Given the description of an element on the screen output the (x, y) to click on. 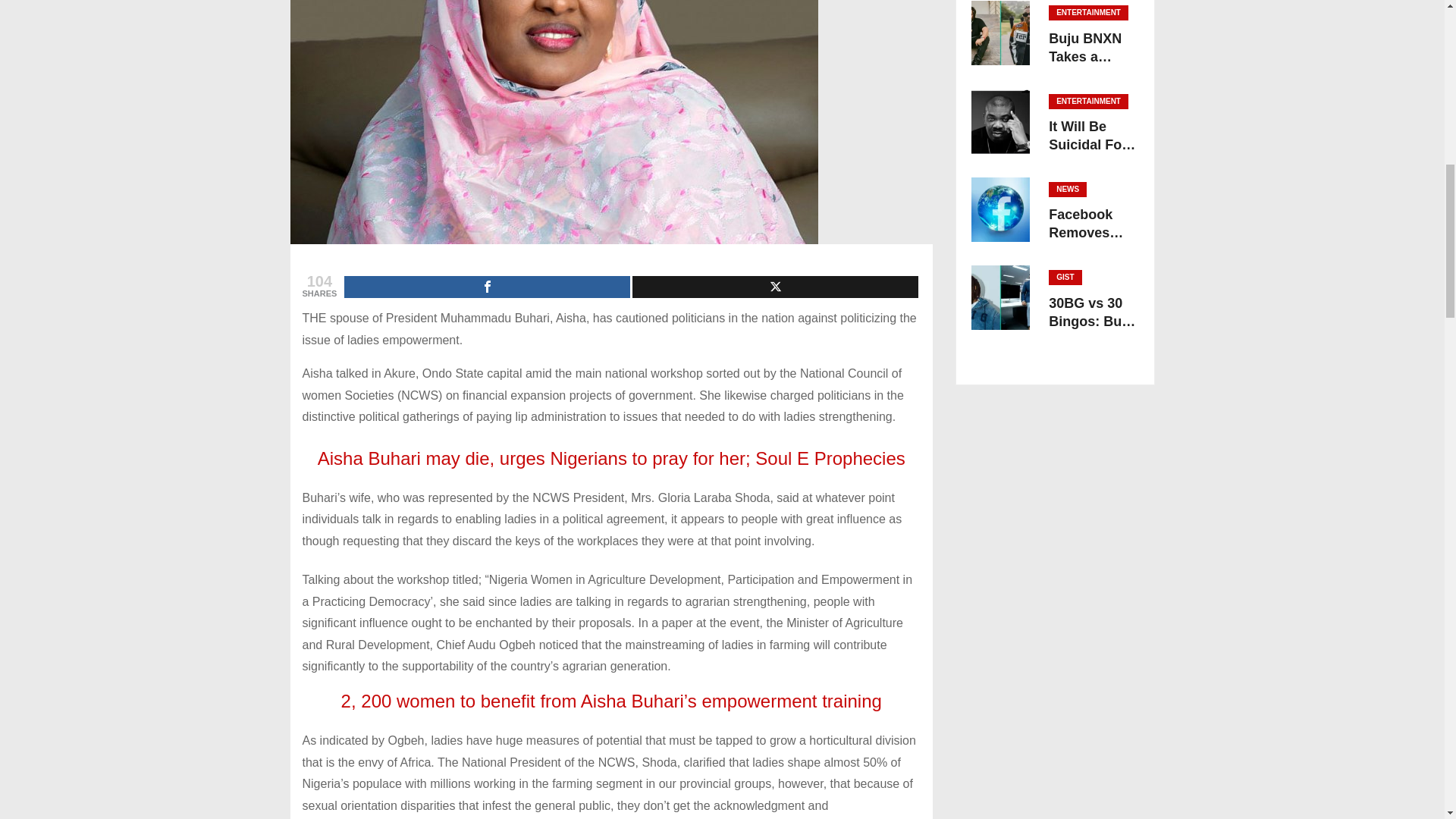
Share (486, 287)
